Given the description of an element on the screen output the (x, y) to click on. 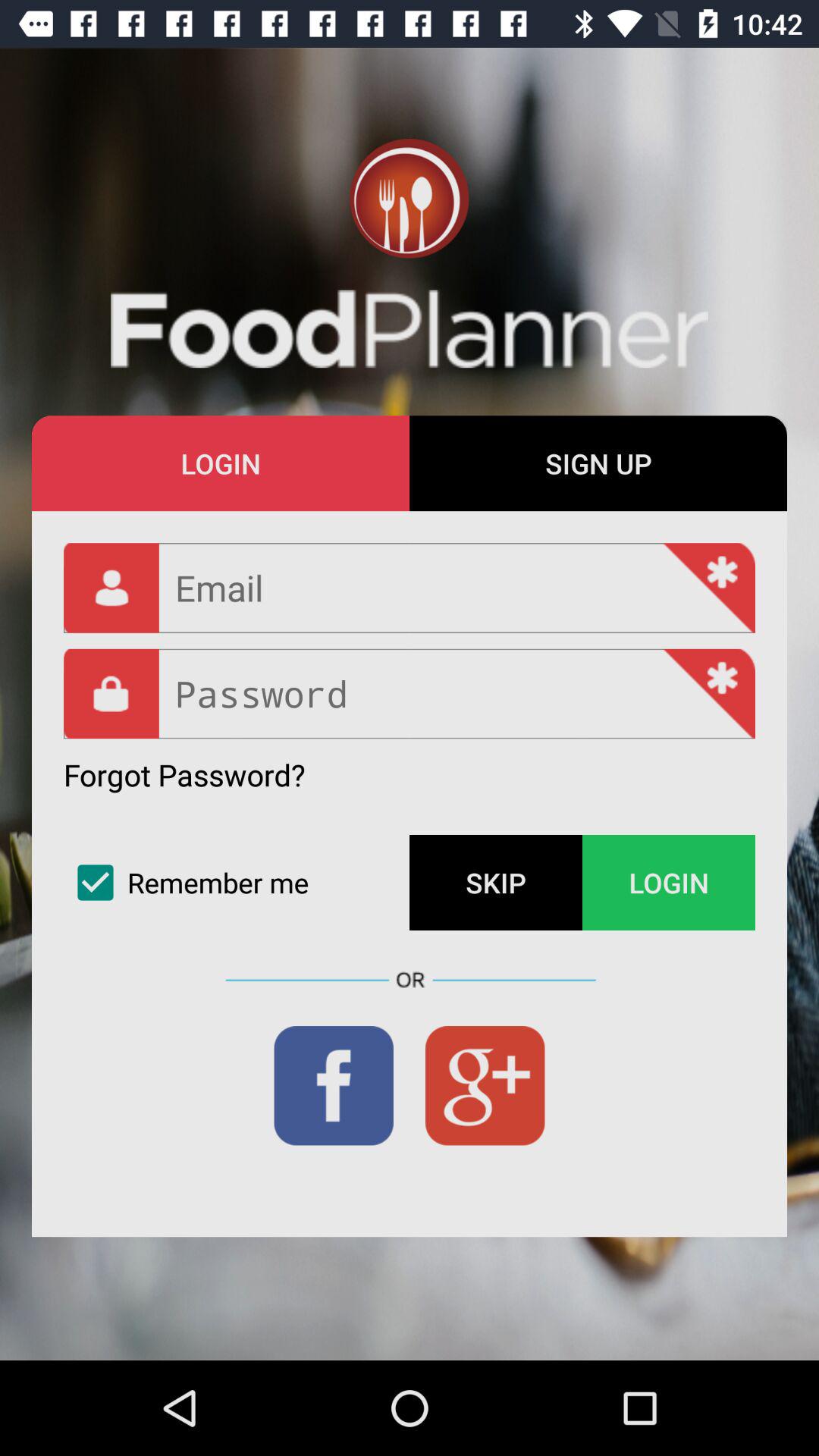
enter email (409, 588)
